Given the description of an element on the screen output the (x, y) to click on. 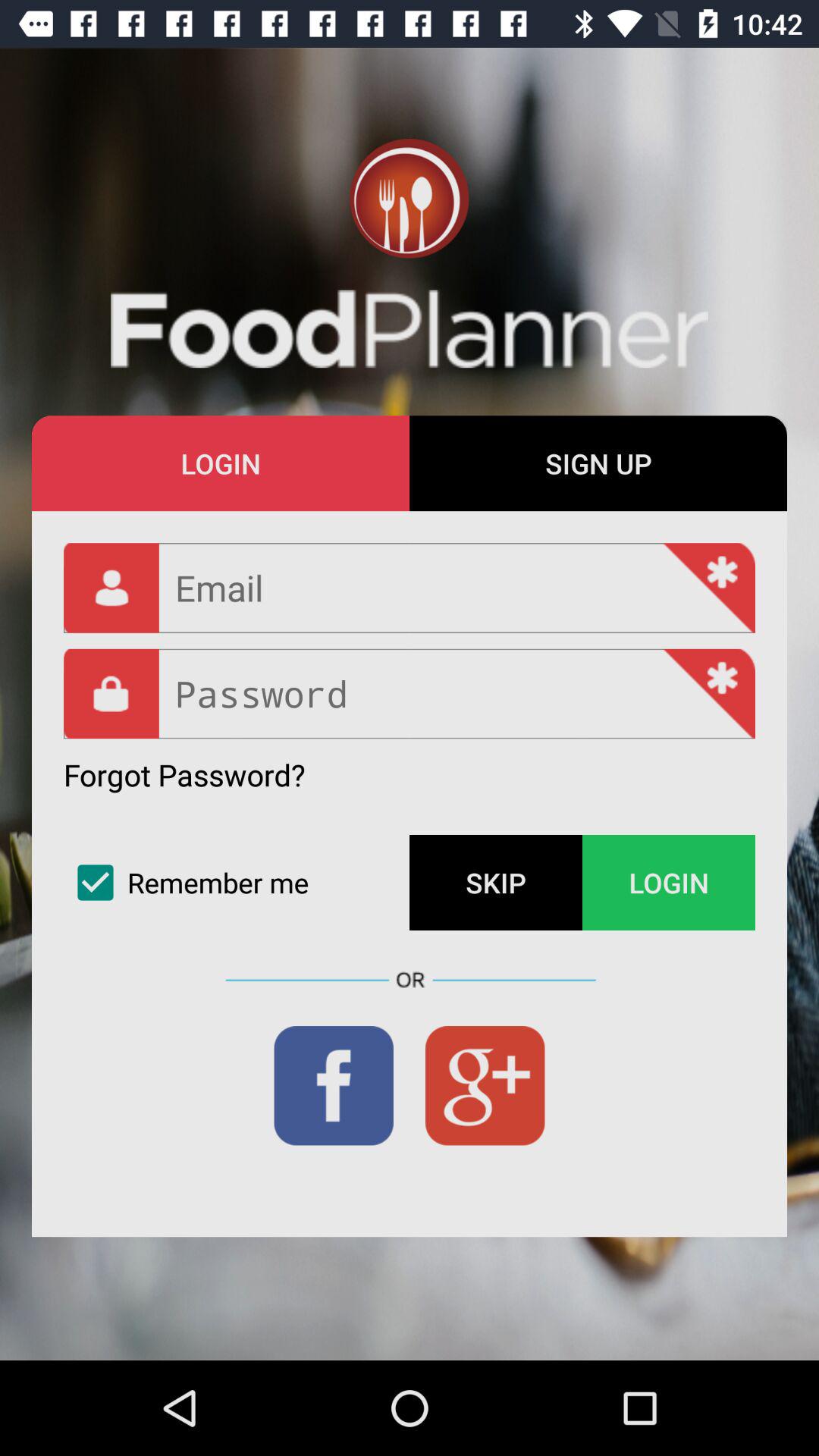
enter email (409, 588)
